Given the description of an element on the screen output the (x, y) to click on. 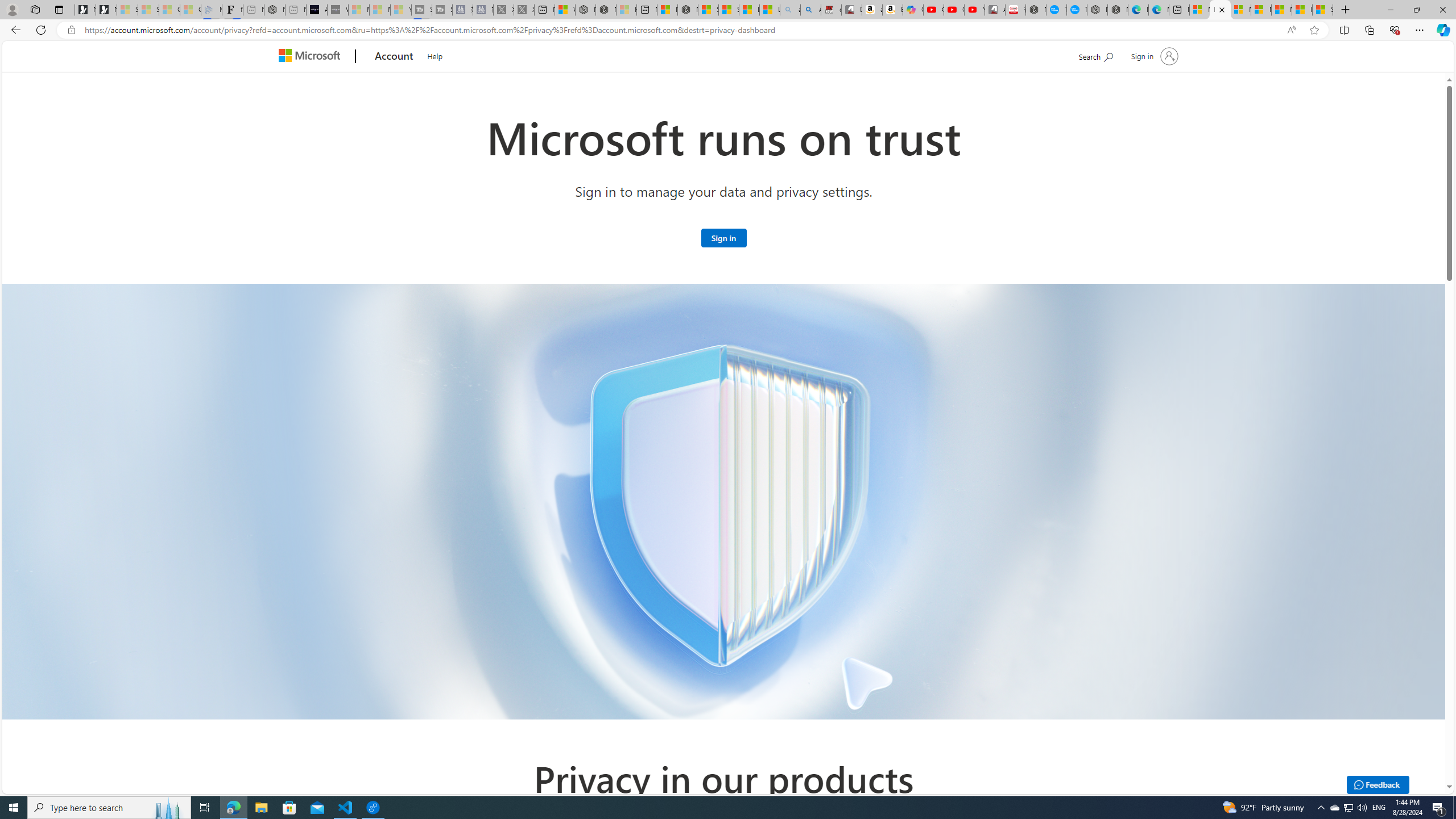
Help (434, 54)
Nordace - #1 Japanese Best-Seller - Siena Smart Backpack (274, 9)
Nordace - Nordace Siena Is Not An Ordinary Backpack (687, 9)
Nordace - Nordace has arrived Hong Kong (1117, 9)
Sign in to your account (1153, 55)
